Given the description of an element on the screen output the (x, y) to click on. 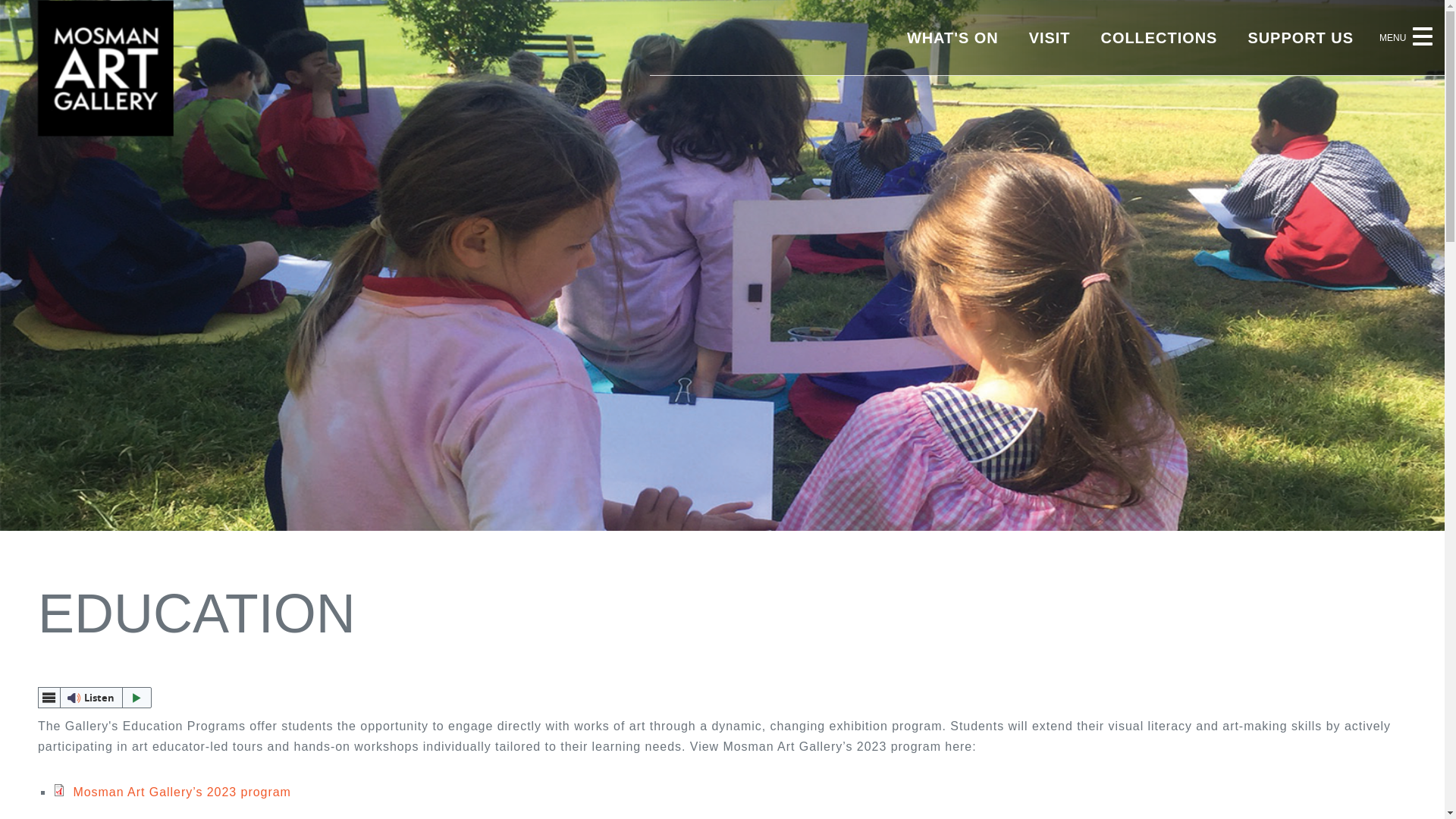
Listen Element type: text (94, 697)
Home Element type: hover (105, 131)
VISIT Element type: text (1049, 37)
SUPPORT US Element type: text (1300, 37)
COLLECTIONS Element type: text (1158, 37)
application/pdf Element type: hover (59, 790)
WHAT'S ON Element type: text (952, 37)
webReader menu Element type: hover (48, 697)
Jump to navigation Element type: text (57, 0)
